Given the description of an element on the screen output the (x, y) to click on. 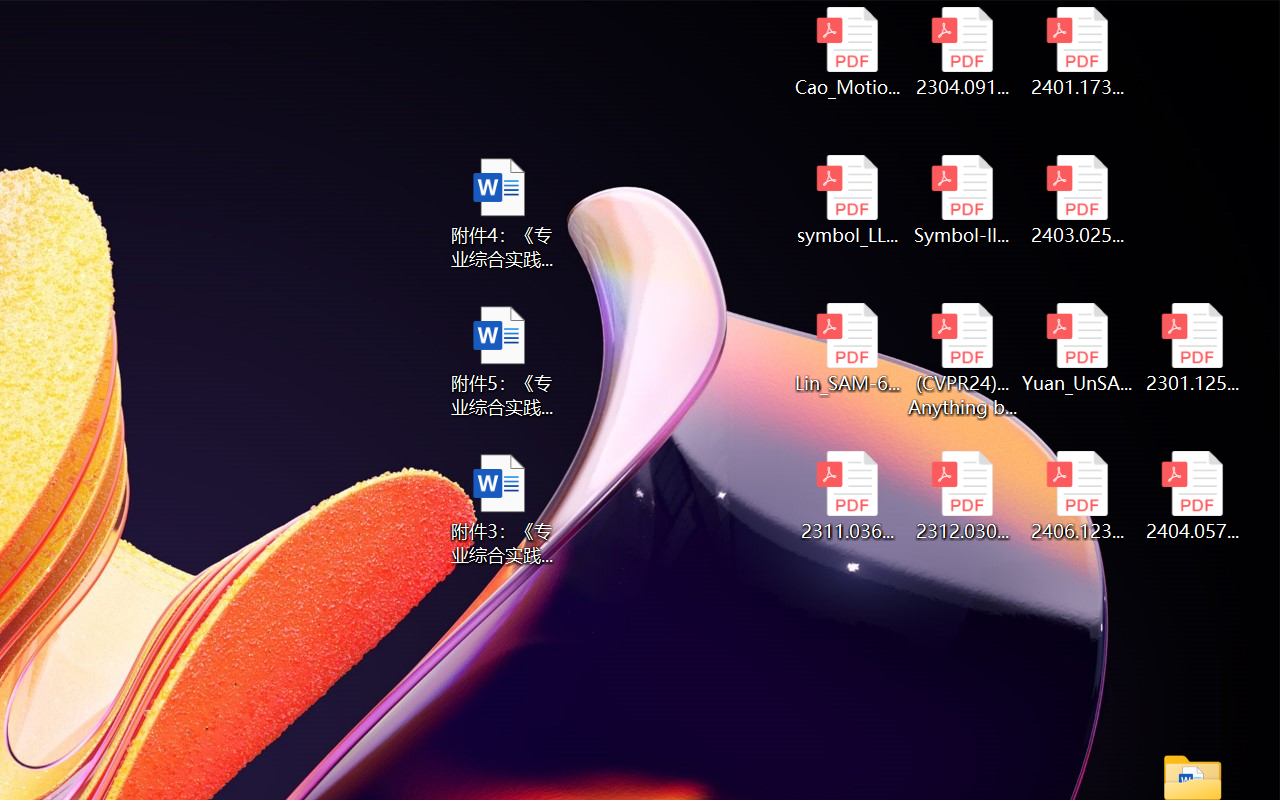
2312.03032v2.pdf (962, 496)
(CVPR24)Matching Anything by Segmenting Anything.pdf (962, 360)
Symbol-llm-v2.pdf (962, 200)
2311.03658v2.pdf (846, 496)
symbol_LLM.pdf (846, 200)
2404.05719v1.pdf (1192, 496)
2304.09121v3.pdf (962, 52)
2401.17399v1.pdf (1077, 52)
2403.02502v1.pdf (1077, 200)
2301.12597v3.pdf (1192, 348)
2406.12373v2.pdf (1077, 496)
